Given the description of an element on the screen output the (x, y) to click on. 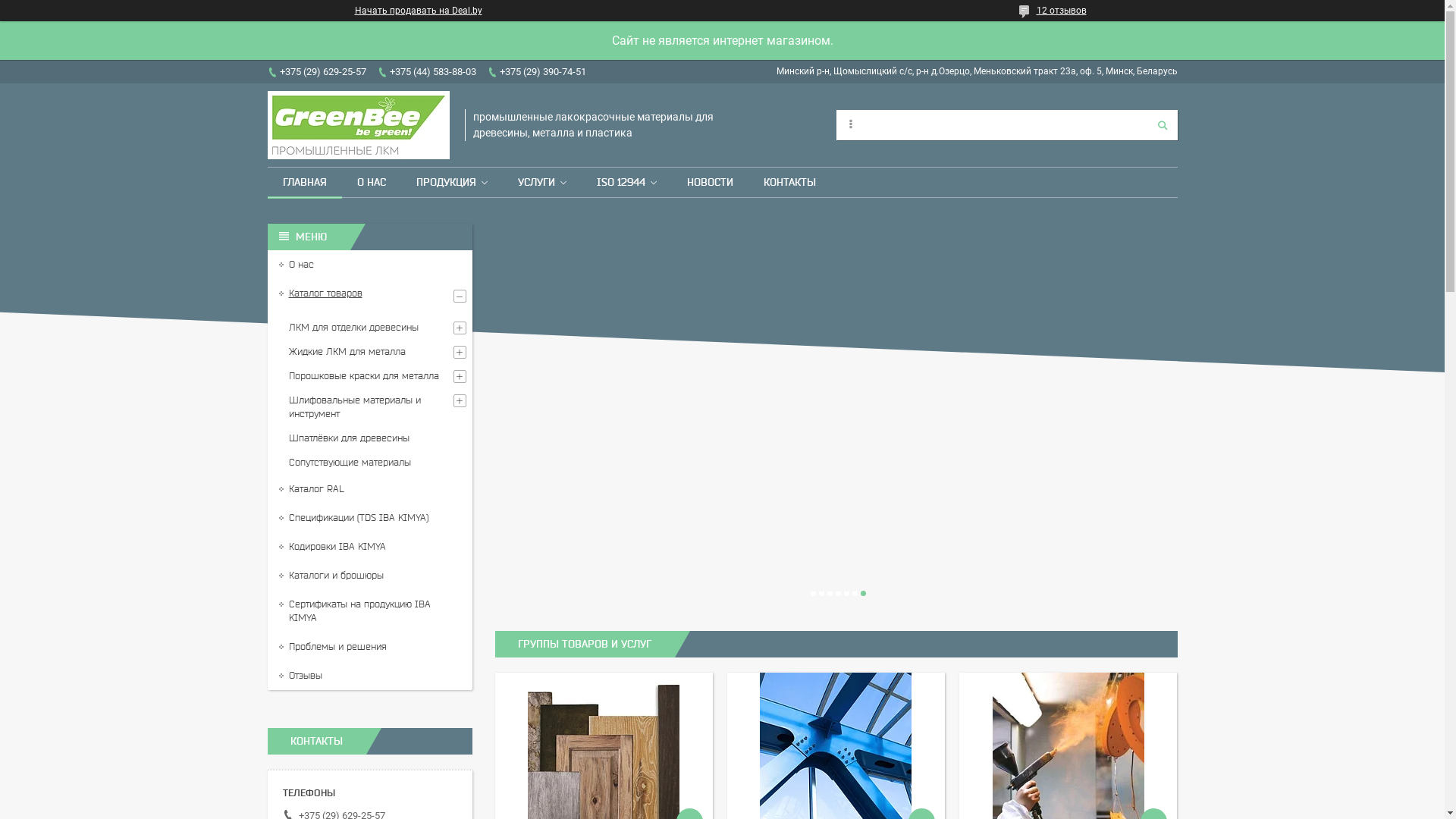
ISO 12944 Element type: text (620, 182)
